Given the description of an element on the screen output the (x, y) to click on. 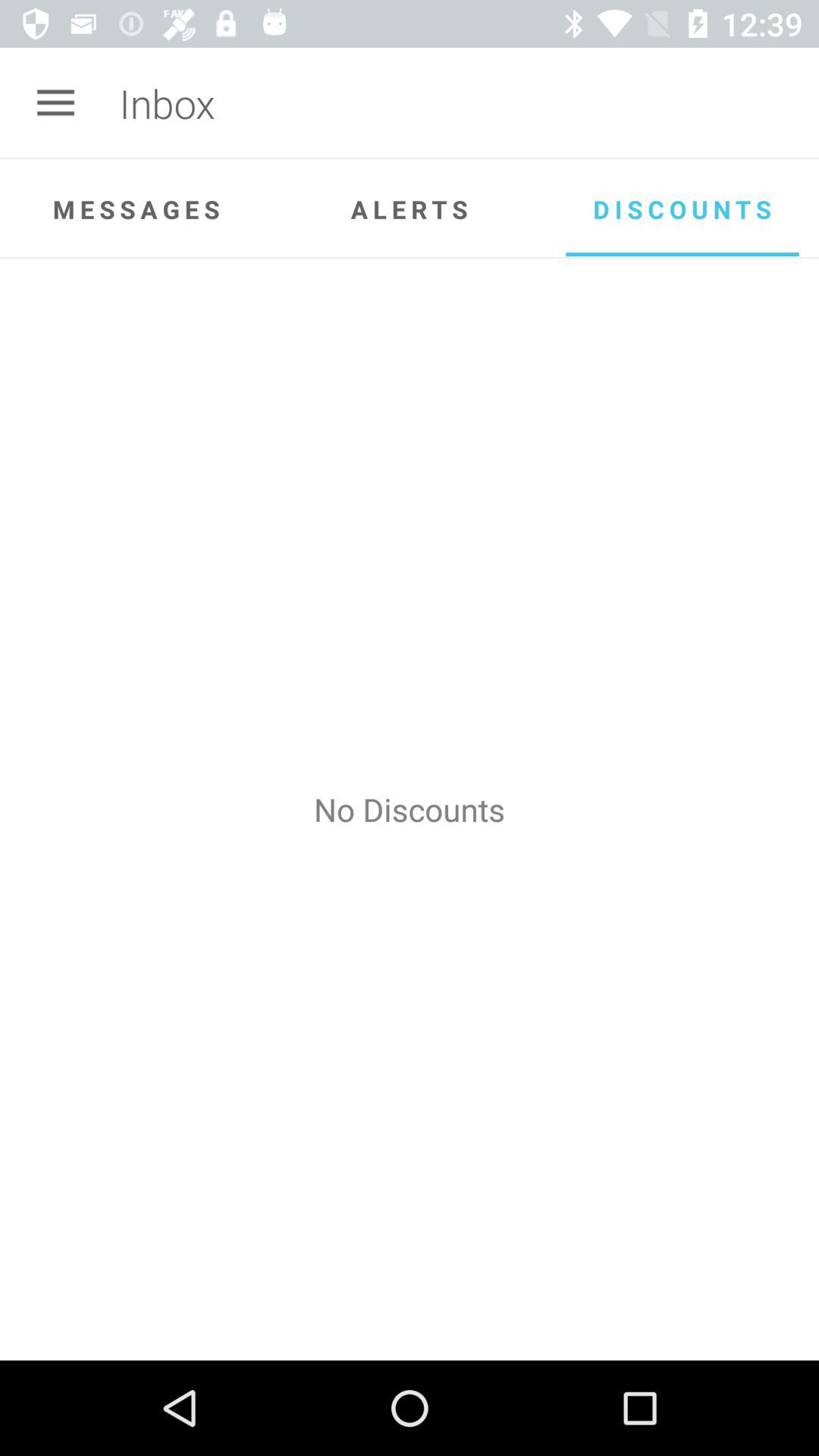
turn on icon above messages item (55, 103)
